Given the description of an element on the screen output the (x, y) to click on. 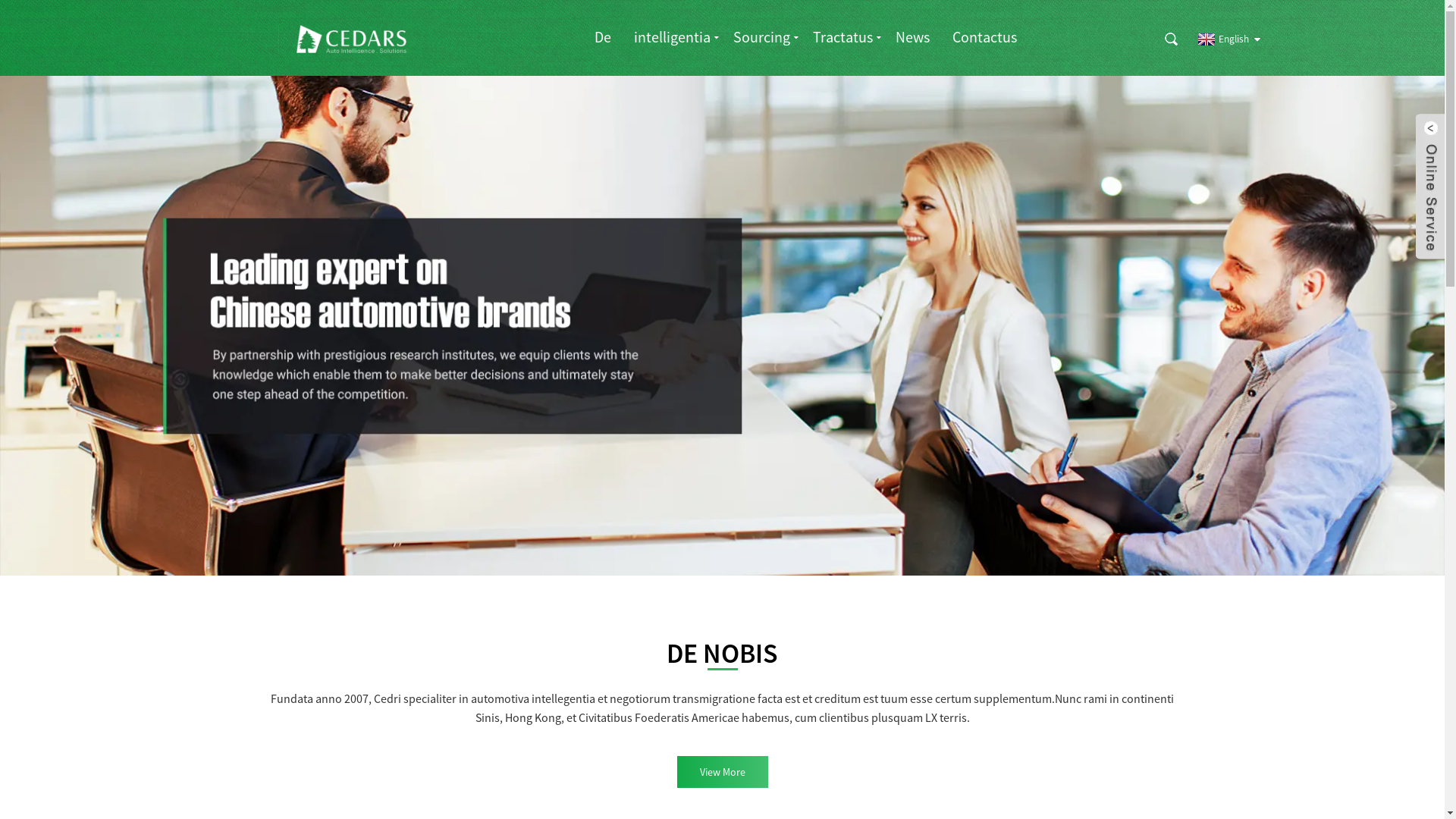
intelligentia Element type: text (671, 36)
Contactus Element type: text (984, 36)
Tractatus Element type: text (842, 36)
De Element type: text (602, 36)
Sourcing Element type: text (761, 36)
English Element type: text (1220, 39)
View More Element type: text (721, 771)
News Element type: text (912, 36)
